Given the description of an element on the screen output the (x, y) to click on. 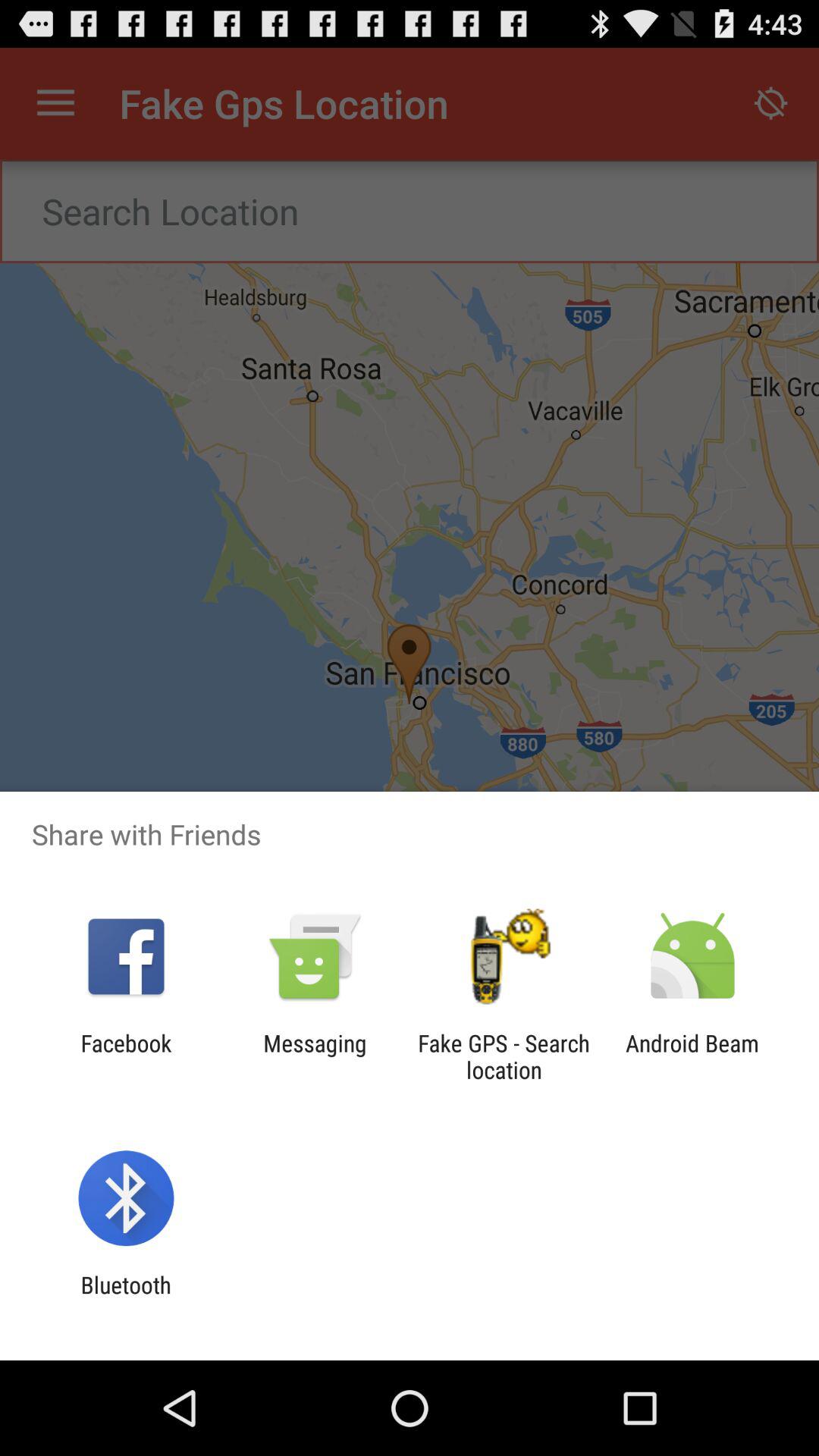
turn on the icon next to facebook item (314, 1056)
